Given the description of an element on the screen output the (x, y) to click on. 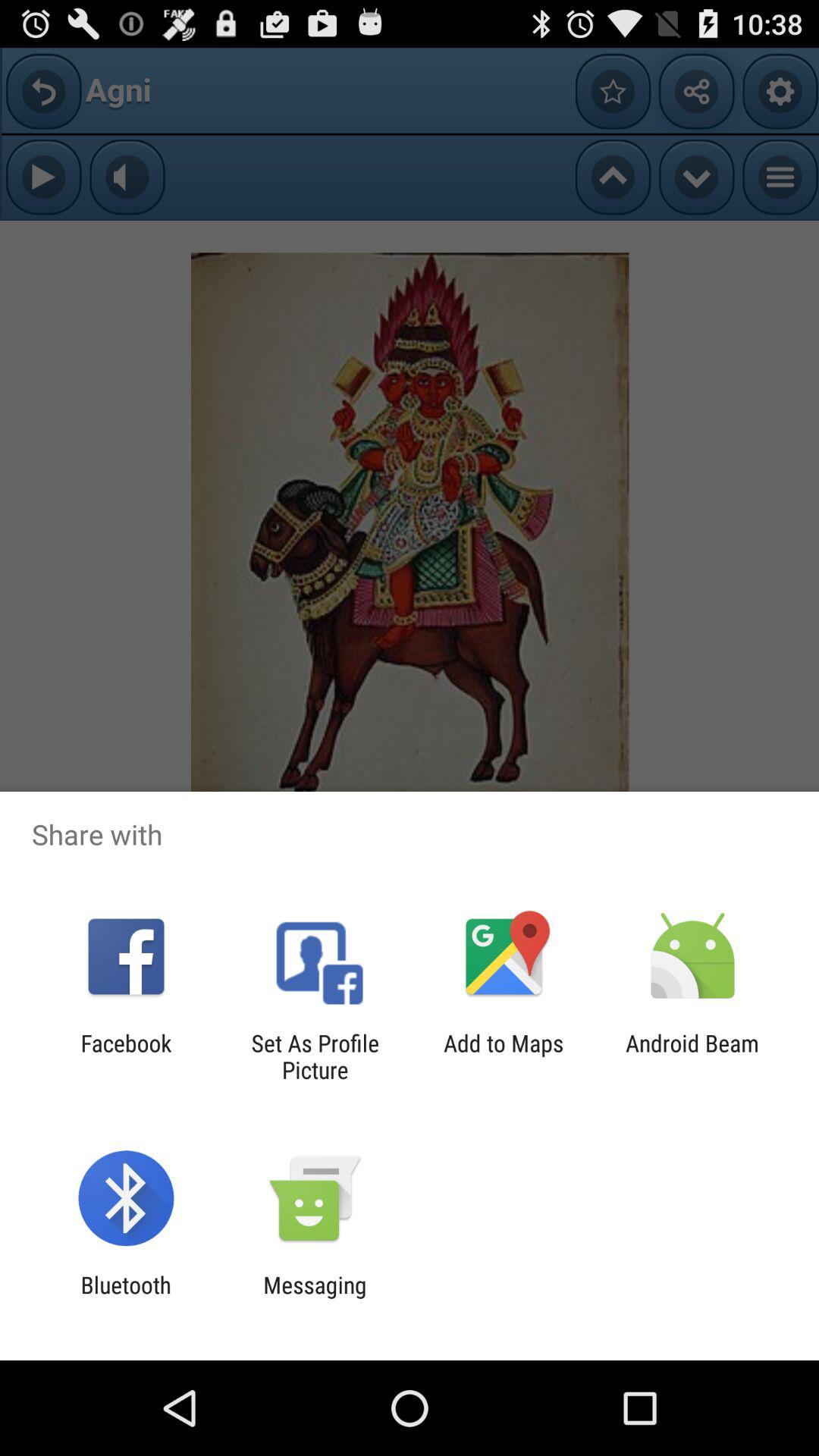
tap the item next to android beam item (503, 1056)
